Given the description of an element on the screen output the (x, y) to click on. 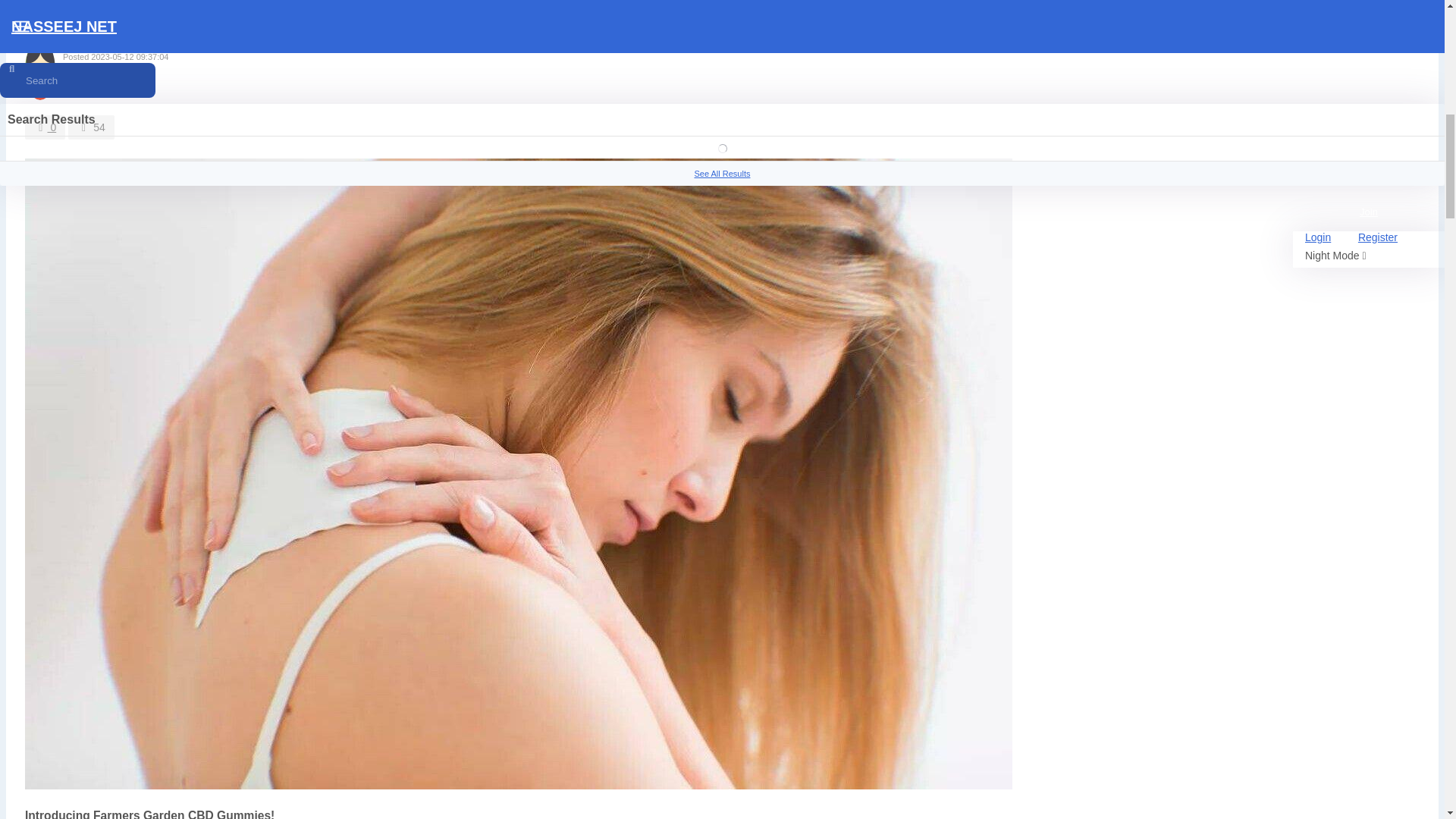
HEALTH (53, 2)
Nicoled Halls (91, 44)
0 (44, 127)
